Given the description of an element on the screen output the (x, y) to click on. 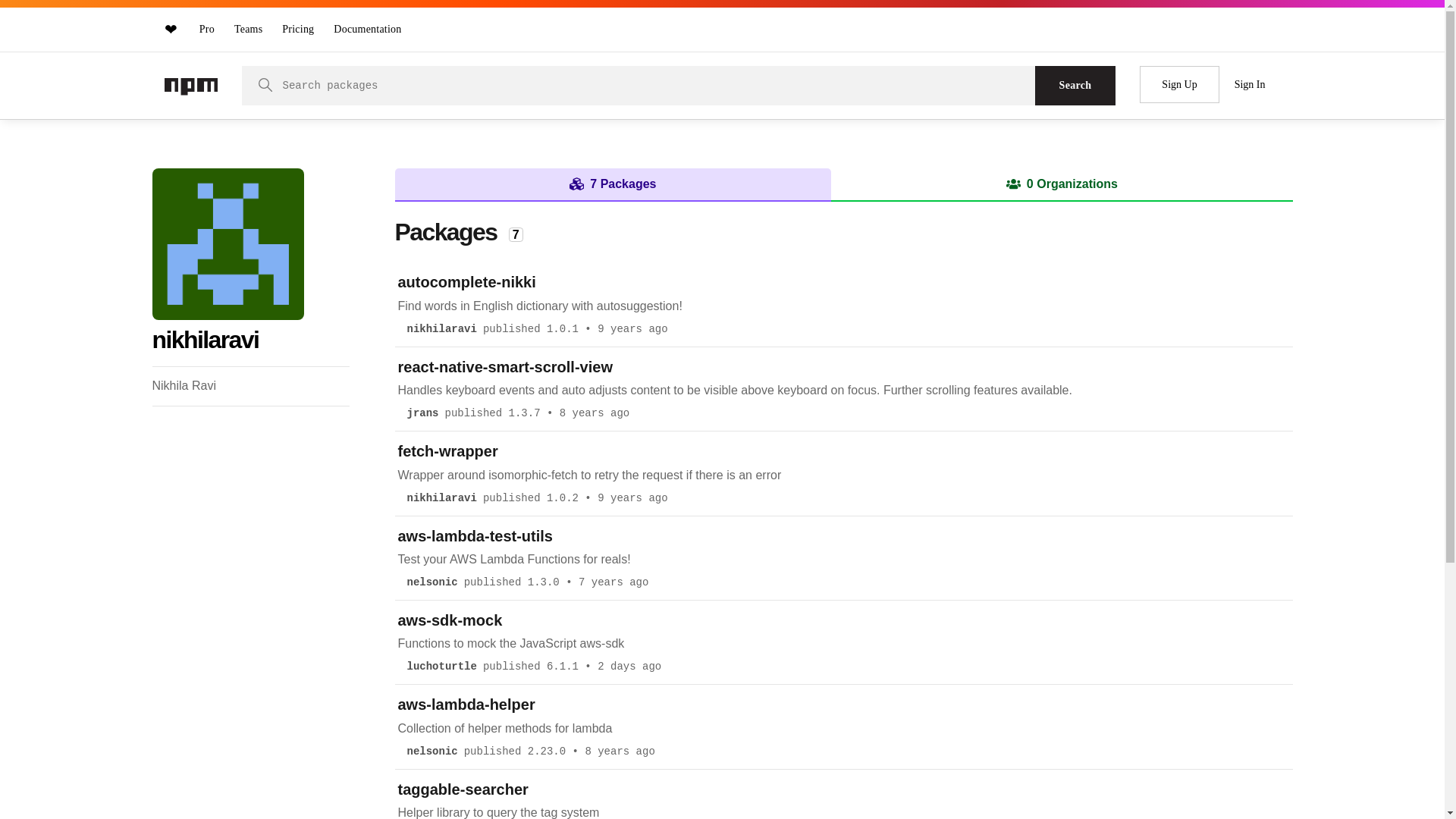
Sign Up (1179, 84)
aws-lambda-test-utils (474, 536)
fetch-wrapper (447, 451)
Pro (207, 29)
autocomplete-nikki (466, 282)
Search (1075, 85)
Documentation (367, 29)
Packages 7 (458, 231)
nikhilaravi (440, 498)
0 Organizations (1061, 183)
